Given the description of an element on the screen output the (x, y) to click on. 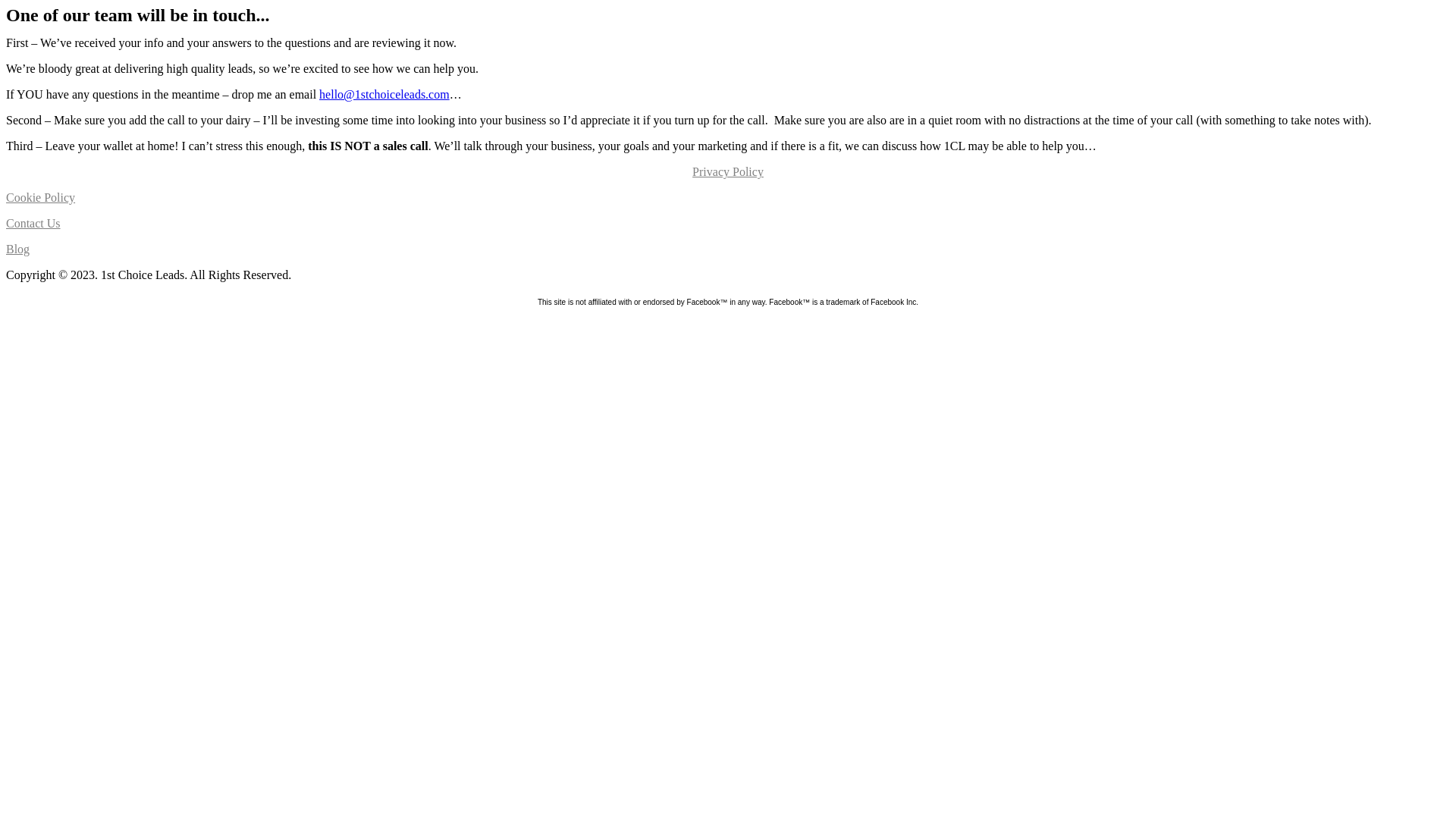
Contact Us Element type: text (33, 222)
Cookie Policy Element type: text (40, 197)
Privacy Policy Element type: text (727, 171)
hello@1stchoiceleads.com Element type: text (384, 93)
Blog Element type: text (17, 248)
